Given the description of an element on the screen output the (x, y) to click on. 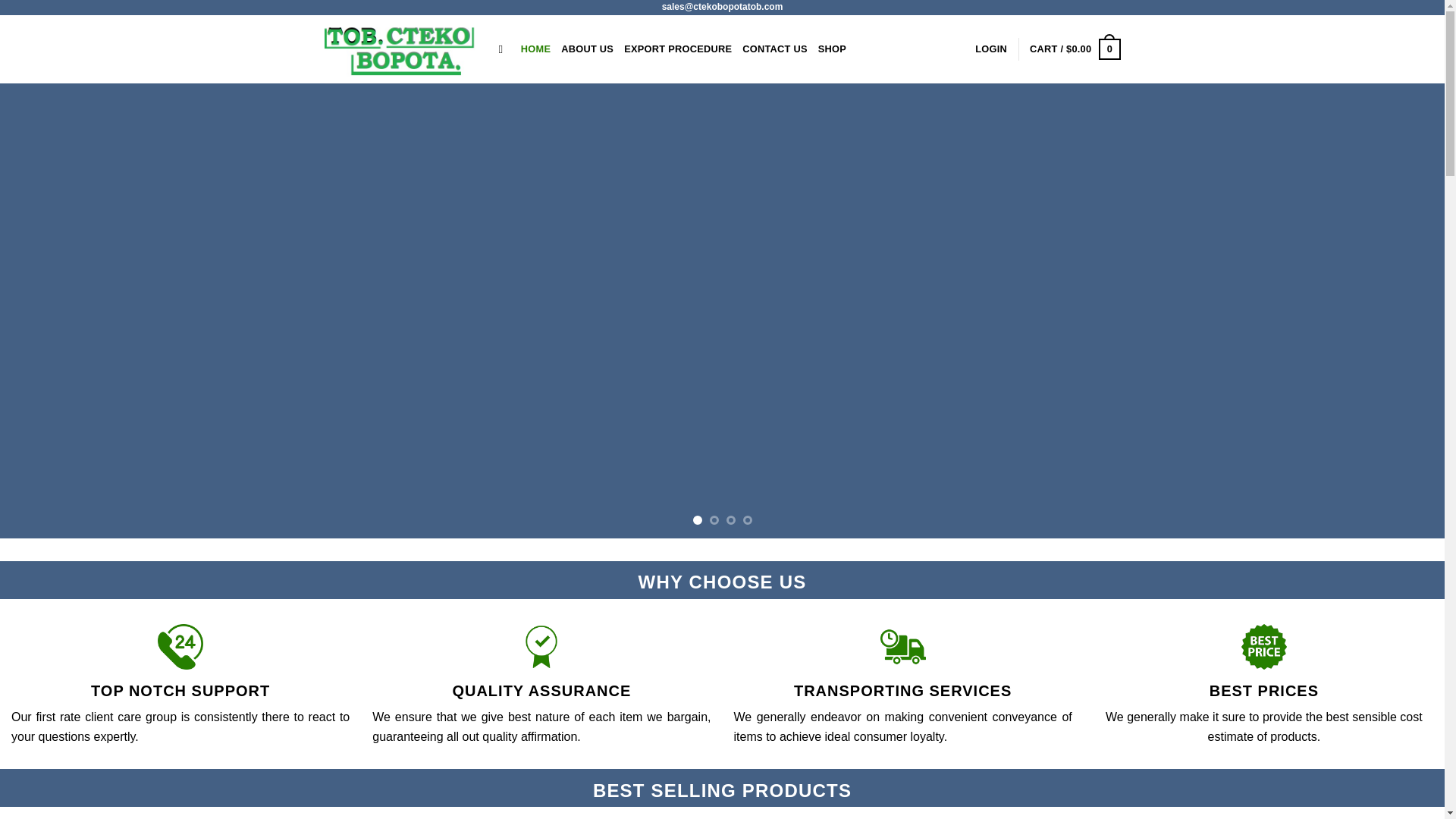
Cart (1074, 48)
EXPORT PROCEDURE (678, 49)
CONTACT US (775, 49)
BEST SELLING PRODUCTS (721, 790)
HOME (535, 49)
ABOUT US (586, 49)
WHY CHOOSE US (722, 581)
LOGIN (991, 49)
ctekobopotatob - ctekobopotatob (400, 49)
SHOP (831, 49)
